Given the description of an element on the screen output the (x, y) to click on. 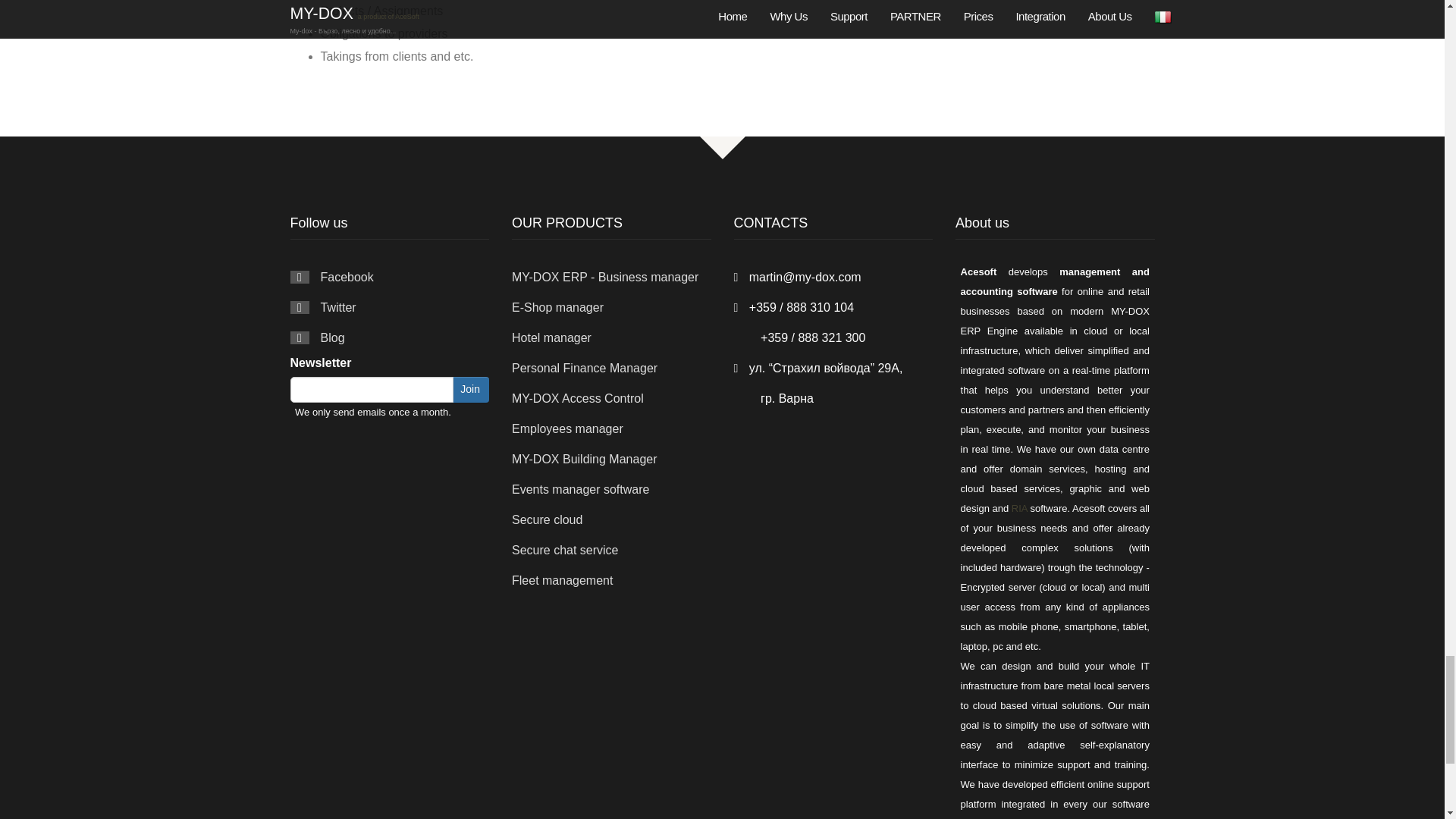
My-Dox Fleet management (562, 580)
MY-Dox - Secure Chat (565, 549)
Secure cloud (547, 519)
My-Dox ERP (605, 277)
MY-Dox - Hotel manager (551, 337)
Employees manager (567, 428)
Facebook (346, 277)
Blog (331, 337)
Events manager software (580, 489)
MY-DOX Access Control (577, 398)
What is RIA? (1019, 508)
E-Shop manager (558, 307)
MY-DOX Building Manager (585, 459)
Personal Finance Manager (585, 367)
MY-Dox - Events manager (580, 489)
